Given the description of an element on the screen output the (x, y) to click on. 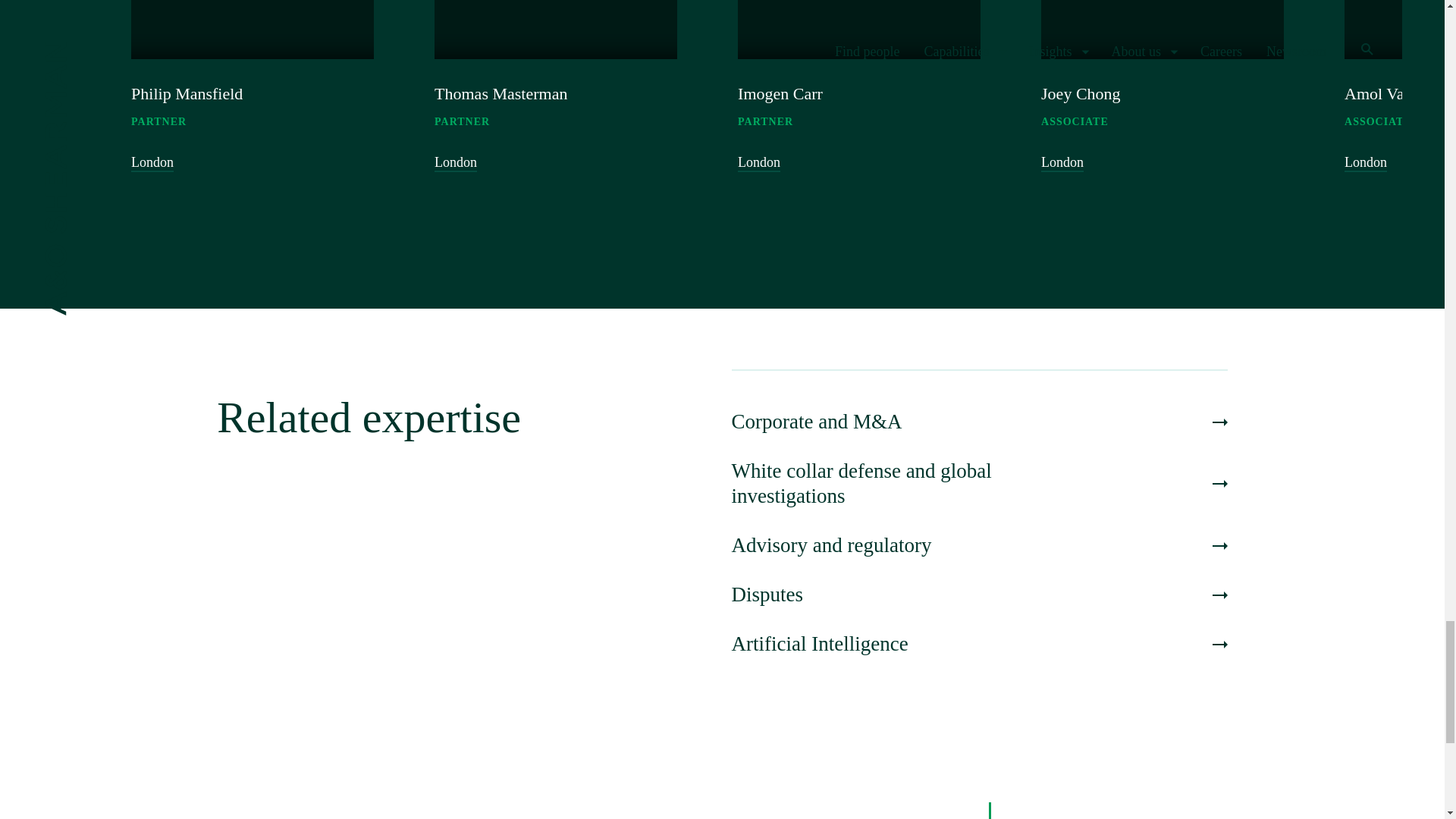
Disputes (978, 594)
Advisory and regulatory (252, 64)
White collar defense and global investigations (978, 545)
Artificial Intelligence (555, 64)
